Given the description of an element on the screen output the (x, y) to click on. 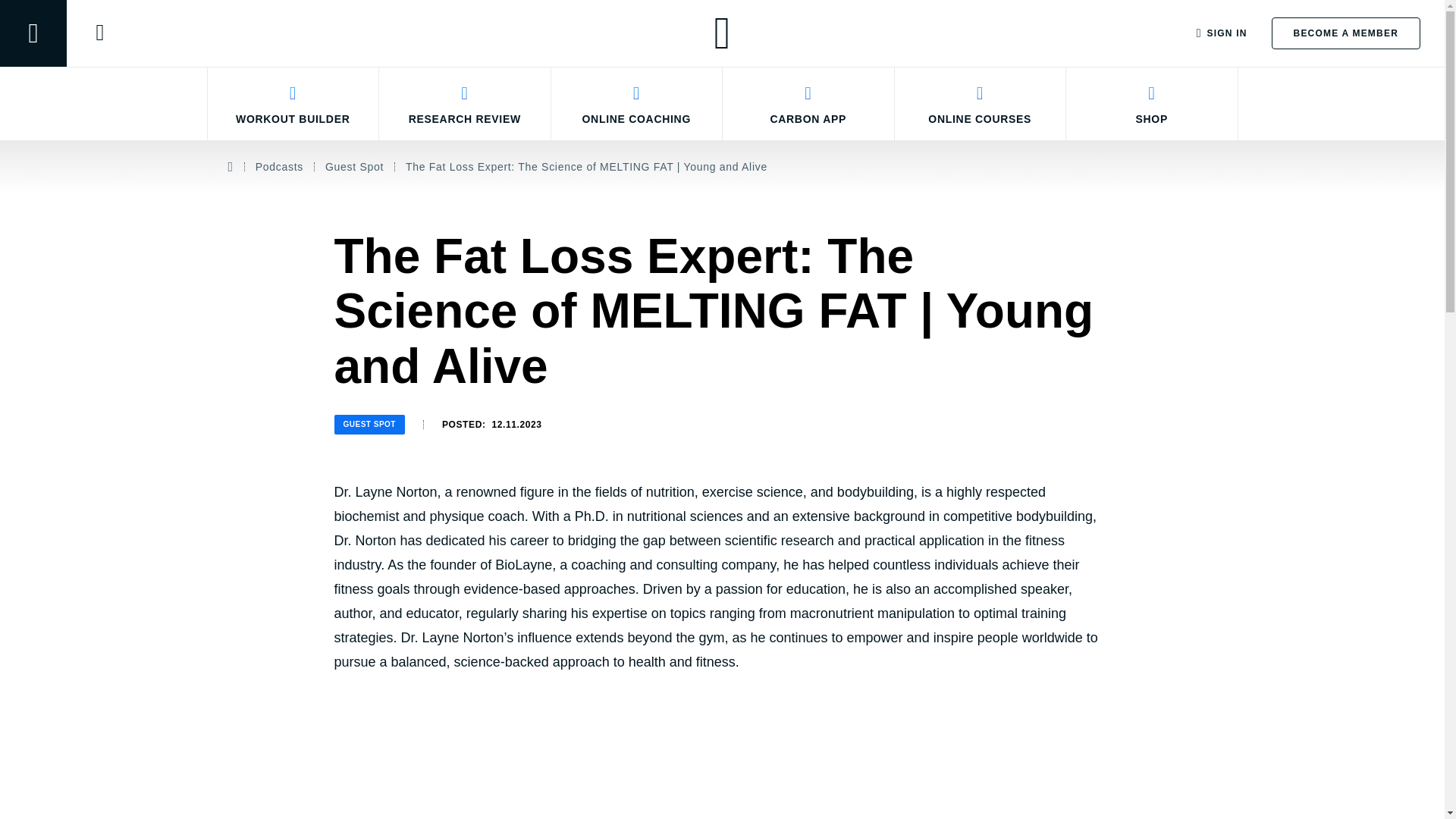
WORKOUT BUILDER (292, 103)
SHOP (1152, 103)
ONLINE COURSES (981, 103)
ONLINE COACHING (636, 103)
SIGN IN (1221, 33)
Podcasts (279, 166)
RESEARCH REVIEW (464, 103)
Online Courses (981, 103)
BECOME A MEMBER (1346, 33)
Research Review (464, 103)
